Given the description of an element on the screen output the (x, y) to click on. 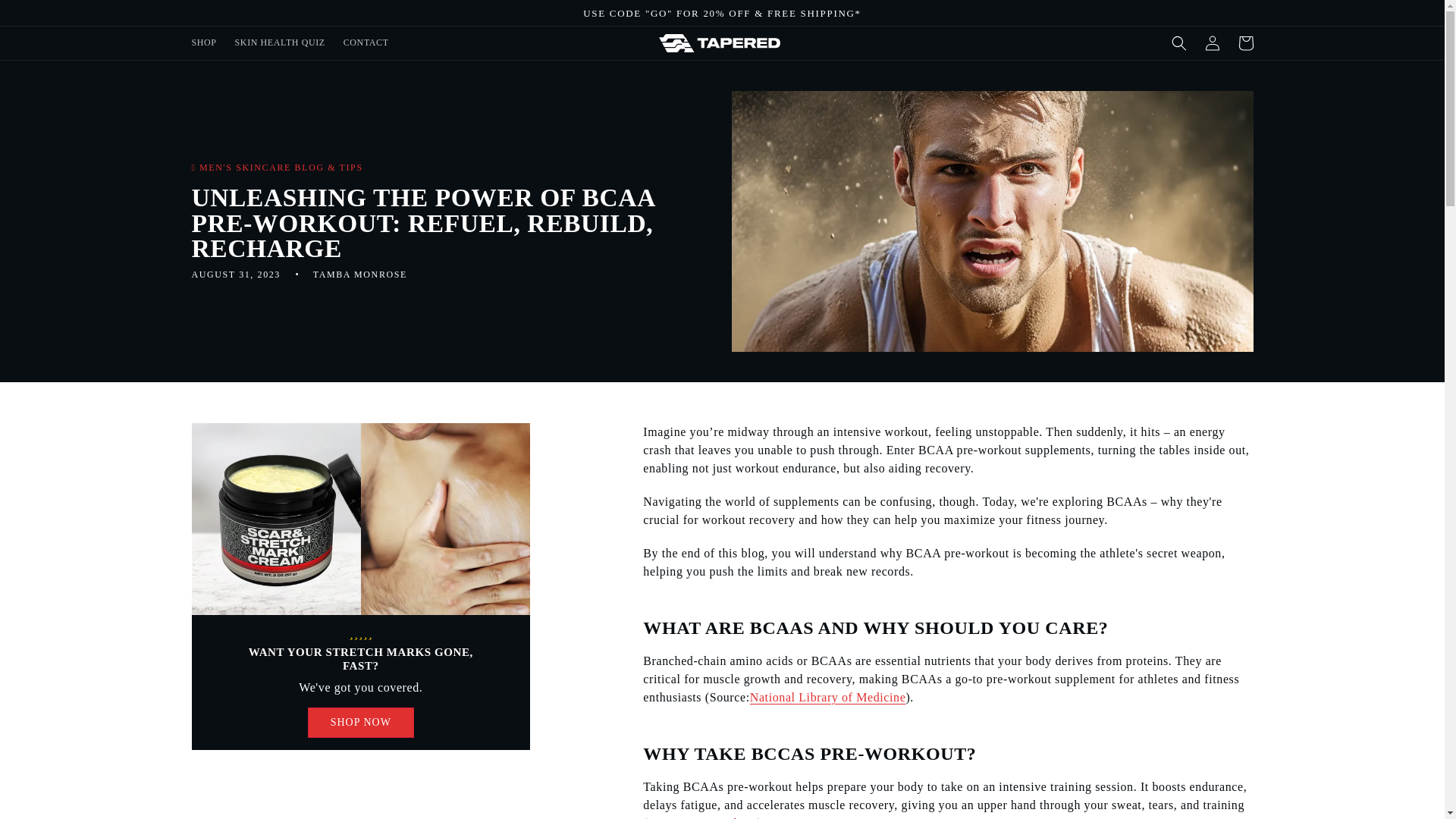
Cart (1245, 42)
SHOP (203, 42)
Mayo Clinic (724, 817)
CONTACT (365, 42)
Log in (1211, 42)
SKIP TO CONTENT (45, 17)
National Library of Medicine (827, 697)
SKIN HEALTH QUIZ (279, 42)
TAMBA MONROSE (360, 274)
SHOP NOW (360, 722)
